Given the description of an element on the screen output the (x, y) to click on. 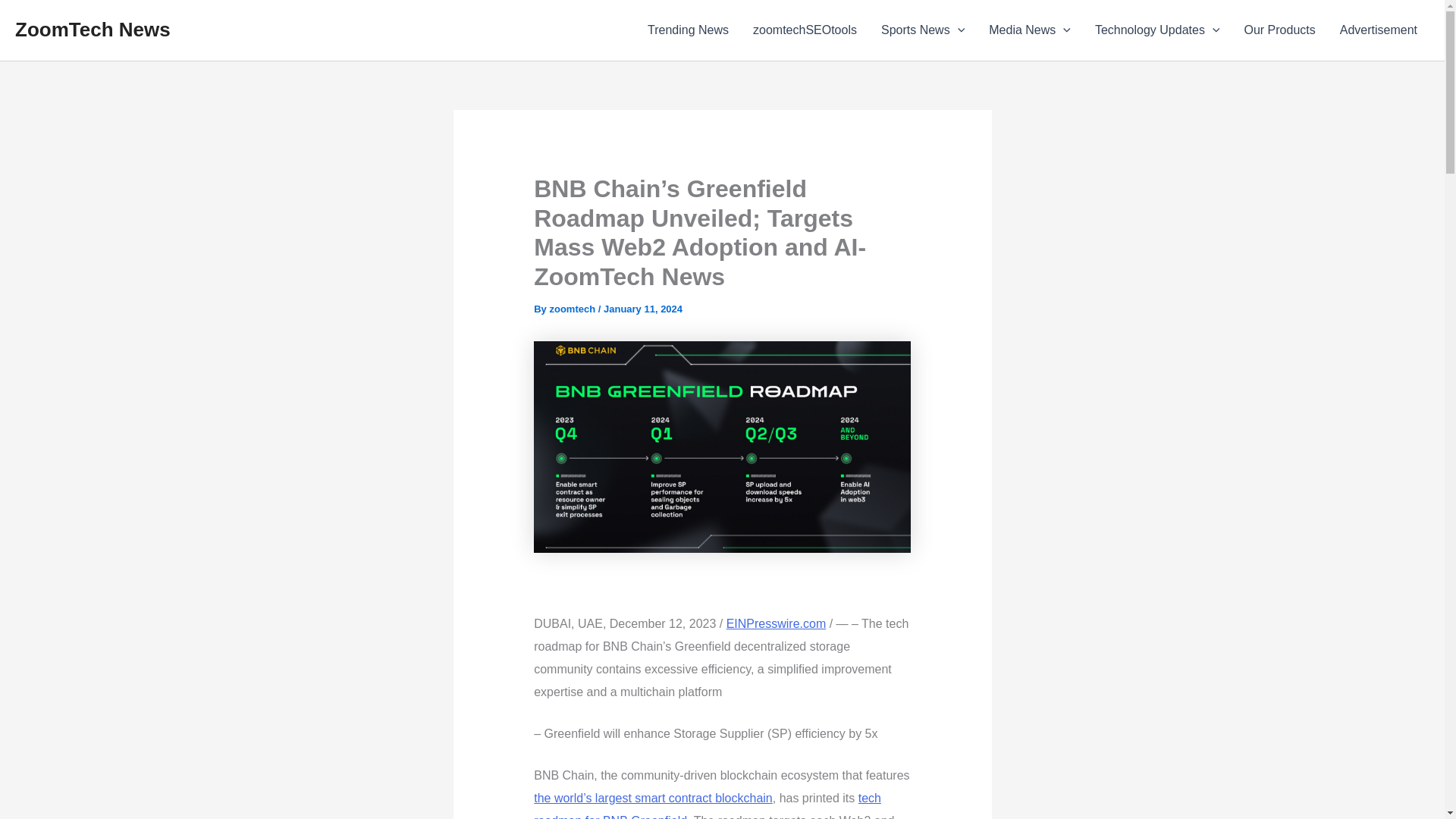
Sports News (922, 30)
Our Products (1278, 30)
zoomtech (572, 308)
zoomtechSEOtools (805, 30)
Trending News (687, 30)
Technology Updates (1157, 30)
tech roadmap for BNB Greenfield (707, 805)
Advertisement (1378, 30)
Media News (1029, 30)
EINPresswire.com (776, 623)
ZoomTech News (92, 29)
View all posts by zoomtech (572, 308)
